Given the description of an element on the screen output the (x, y) to click on. 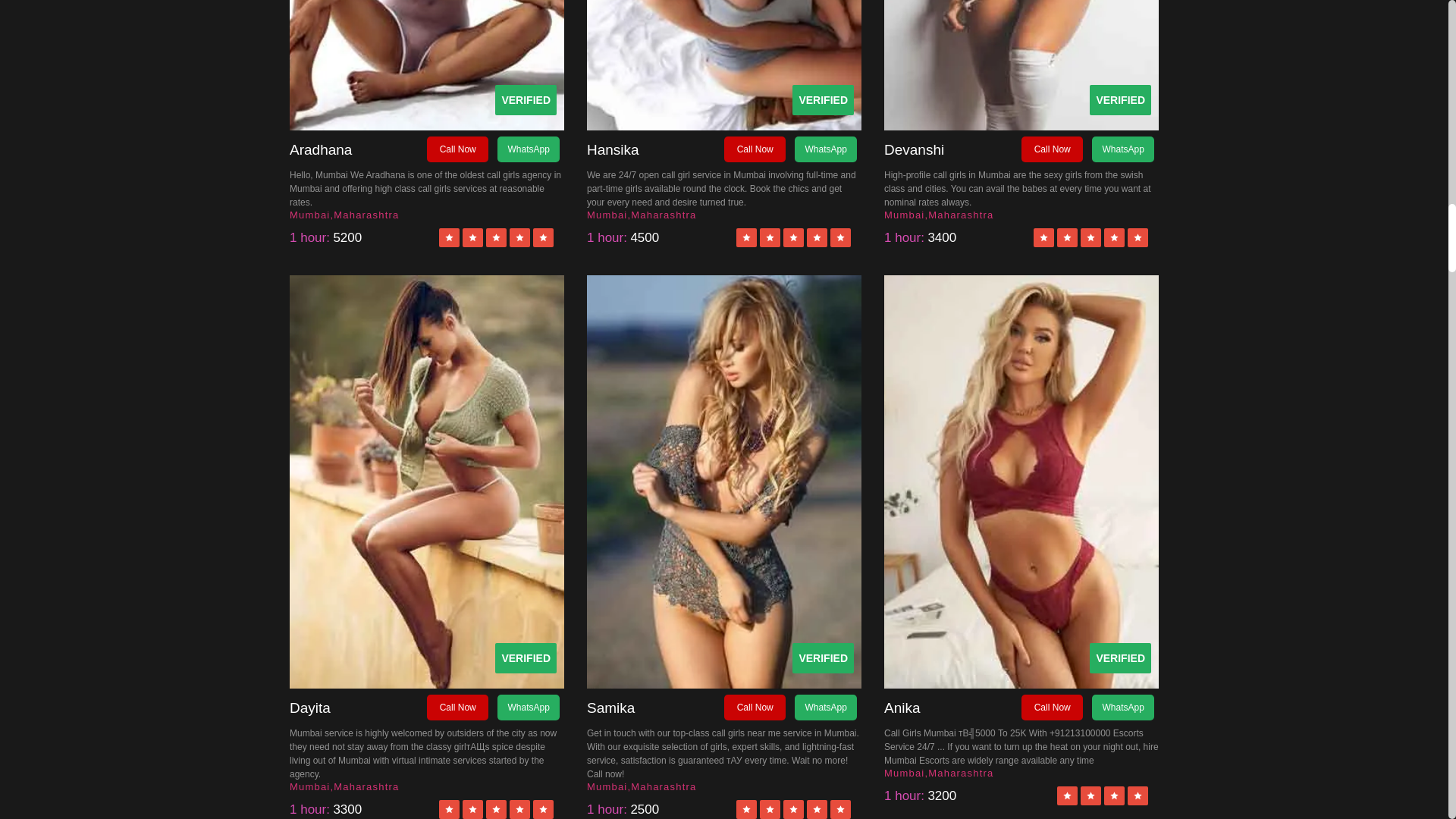
Aradhana (357, 150)
WhatsApp (528, 149)
Call Now (456, 149)
